Given the description of an element on the screen output the (x, y) to click on. 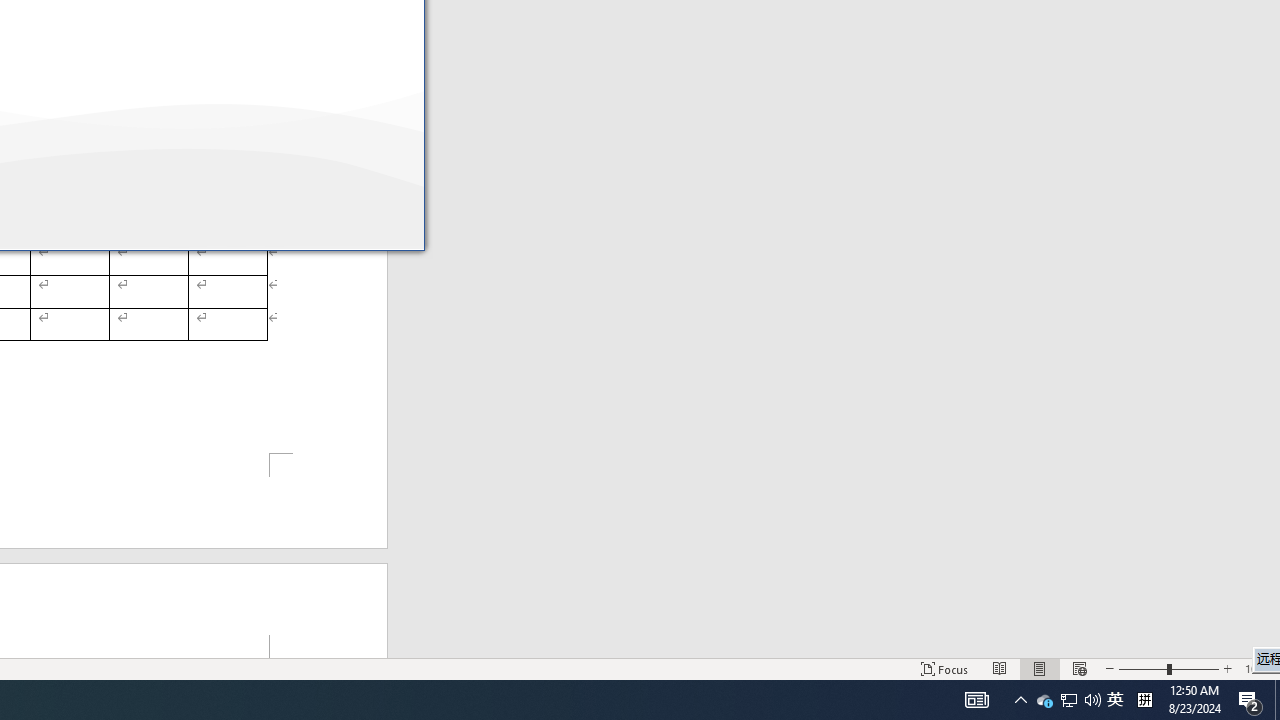
Zoom 100% (1258, 668)
